Given the description of an element on the screen output the (x, y) to click on. 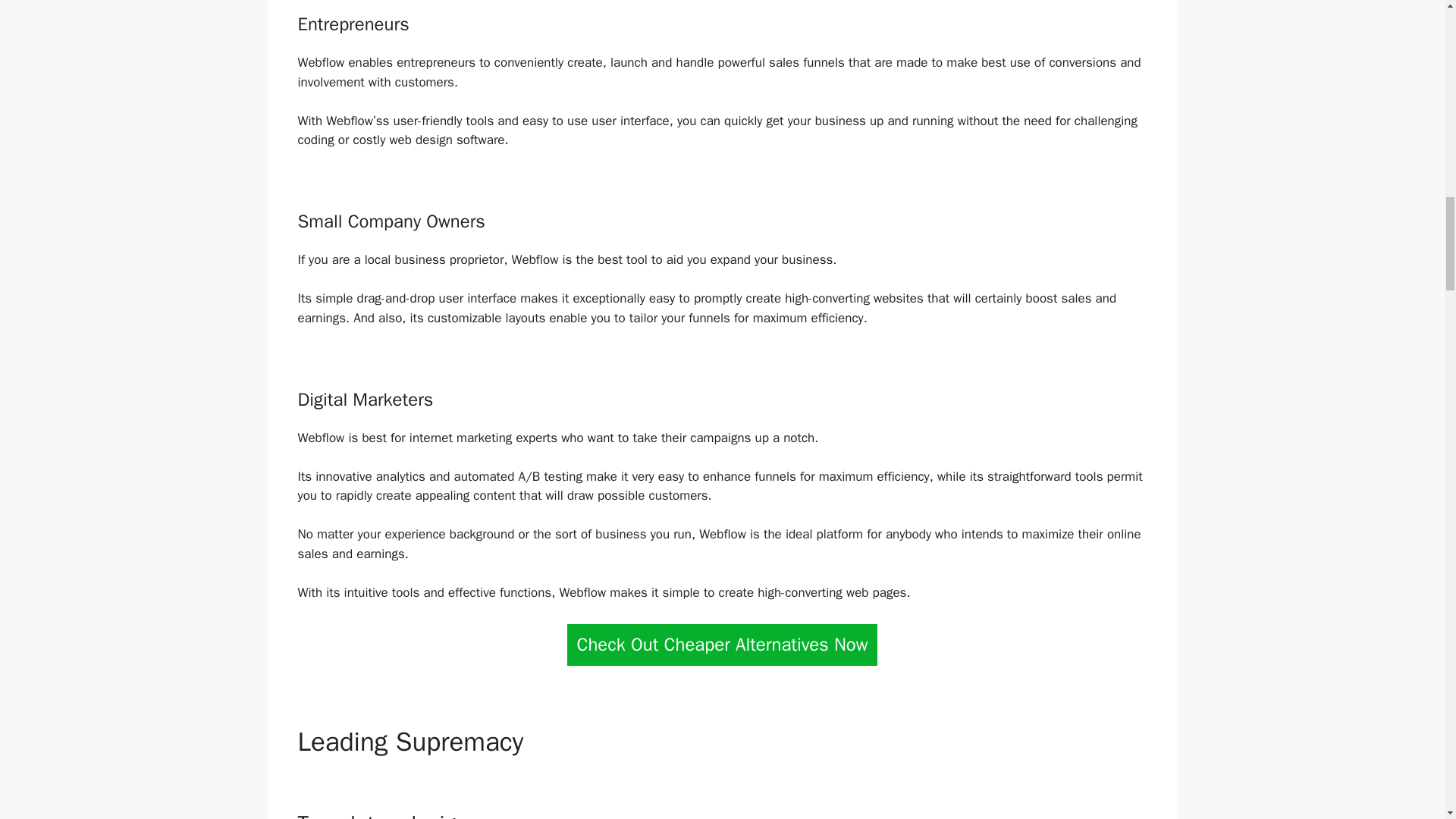
Check Out Cheaper Alternatives Now (722, 644)
